Given the description of an element on the screen output the (x, y) to click on. 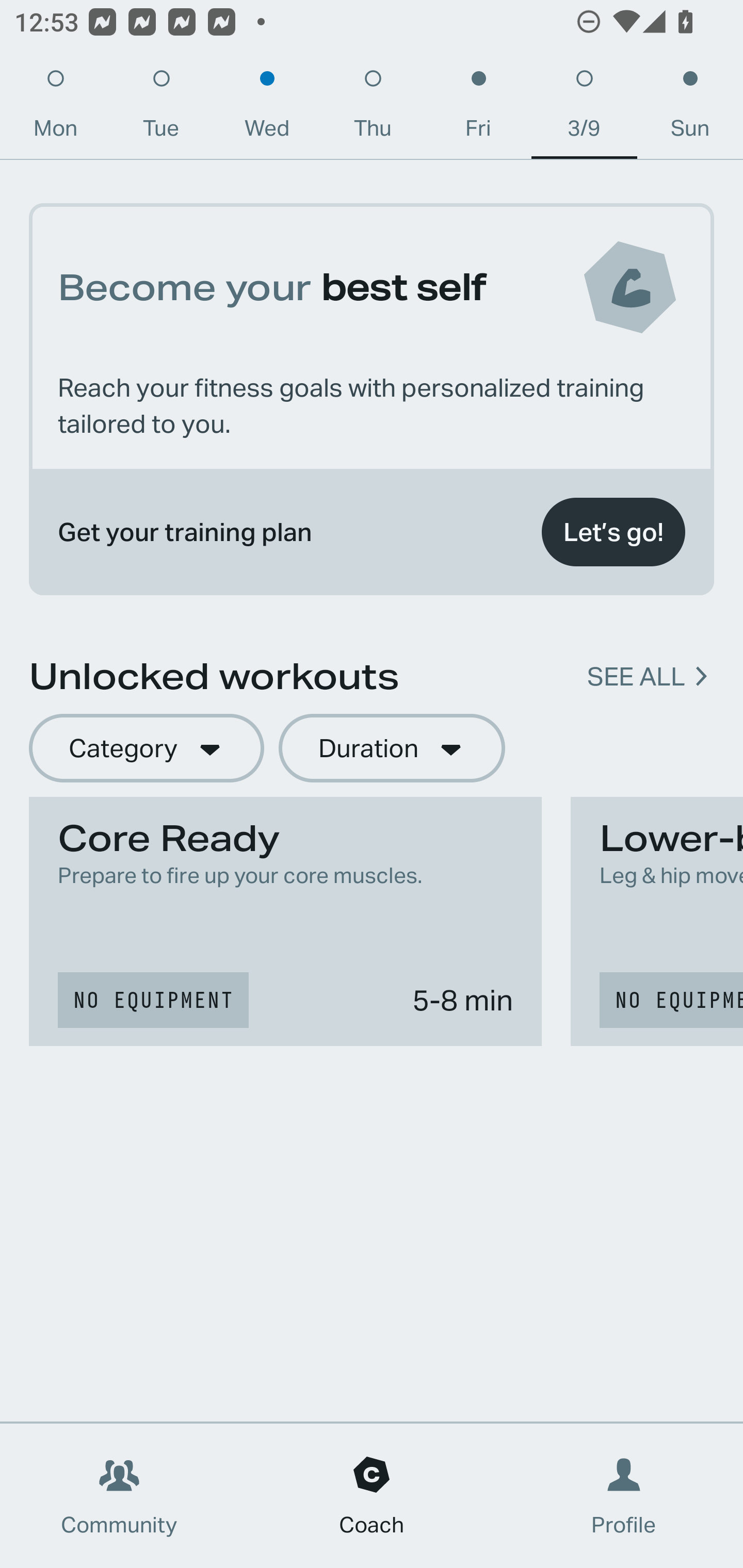
Mon (55, 108)
Tue (160, 108)
Wed (266, 108)
Thu (372, 108)
Fri (478, 108)
3/9 (584, 108)
Sun (690, 108)
Let’s go! (613, 532)
SEE ALL (635, 676)
Category (146, 748)
Duration (391, 748)
Community (119, 1495)
Profile (624, 1495)
